Given the description of an element on the screen output the (x, y) to click on. 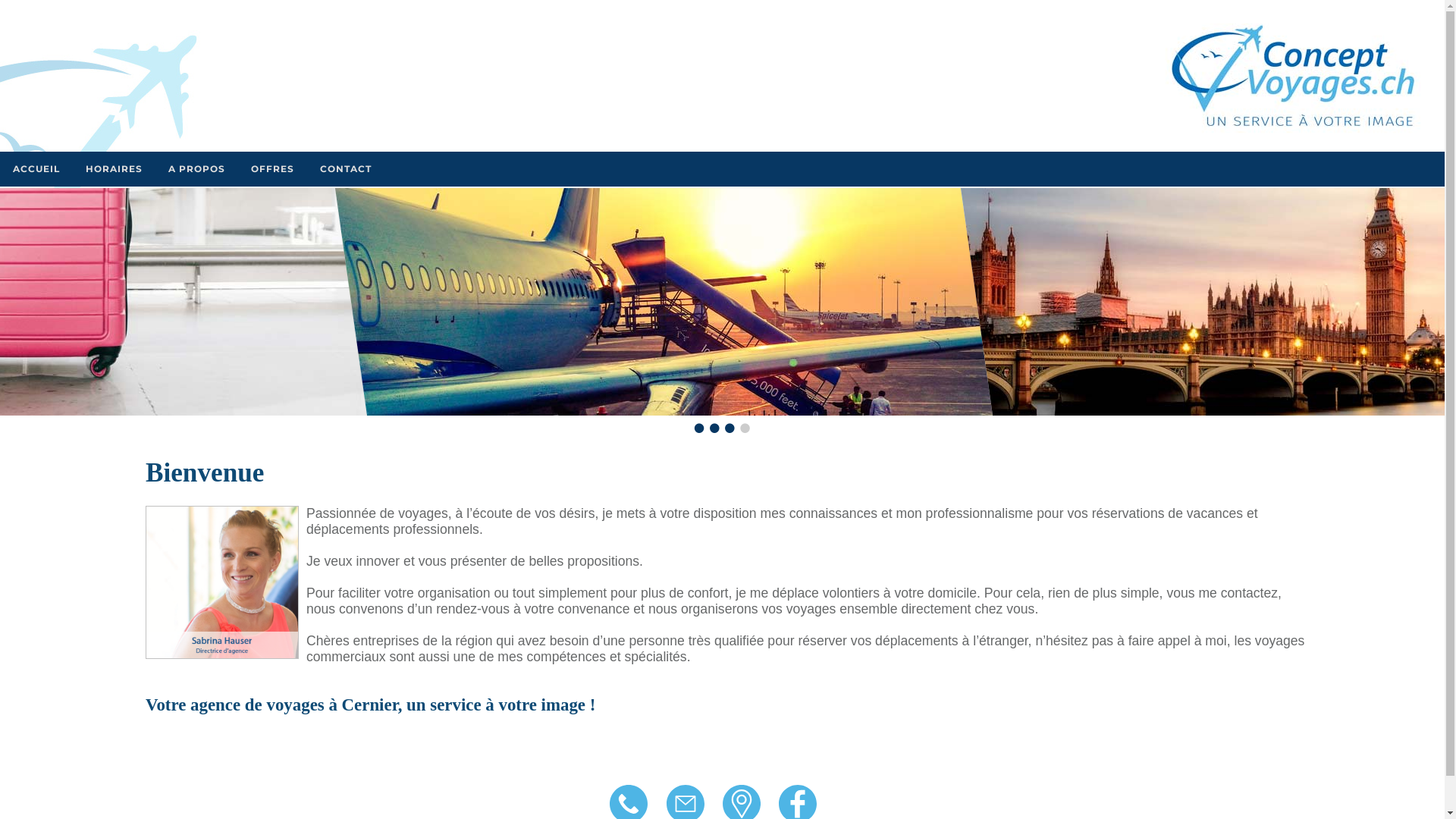
ACCUEIL Element type: text (36, 168)
HORAIRES Element type: text (113, 168)
OFFRES Element type: text (272, 168)
A PROPOS Element type: text (196, 168)
CONTACT Element type: text (345, 168)
